Given the description of an element on the screen output the (x, y) to click on. 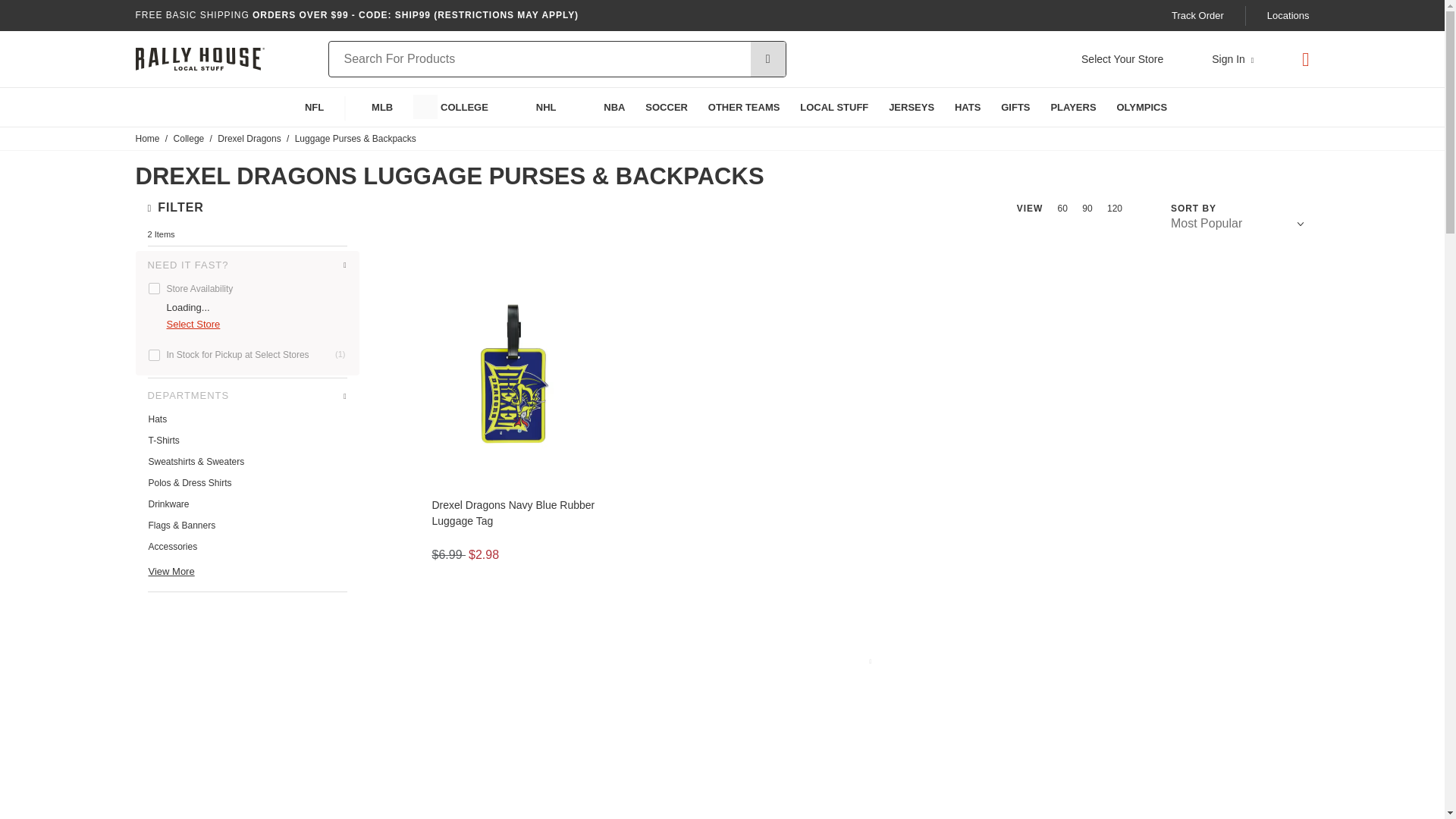
Search (768, 58)
Go to the next page (870, 660)
Show 90 per page (1087, 208)
Select Your Store (1122, 59)
Locations (1287, 15)
Show 120 per page (1114, 208)
Rally House (199, 59)
NFL (299, 106)
Track Order (1198, 15)
Show 60 per page (1064, 208)
